Given the description of an element on the screen output the (x, y) to click on. 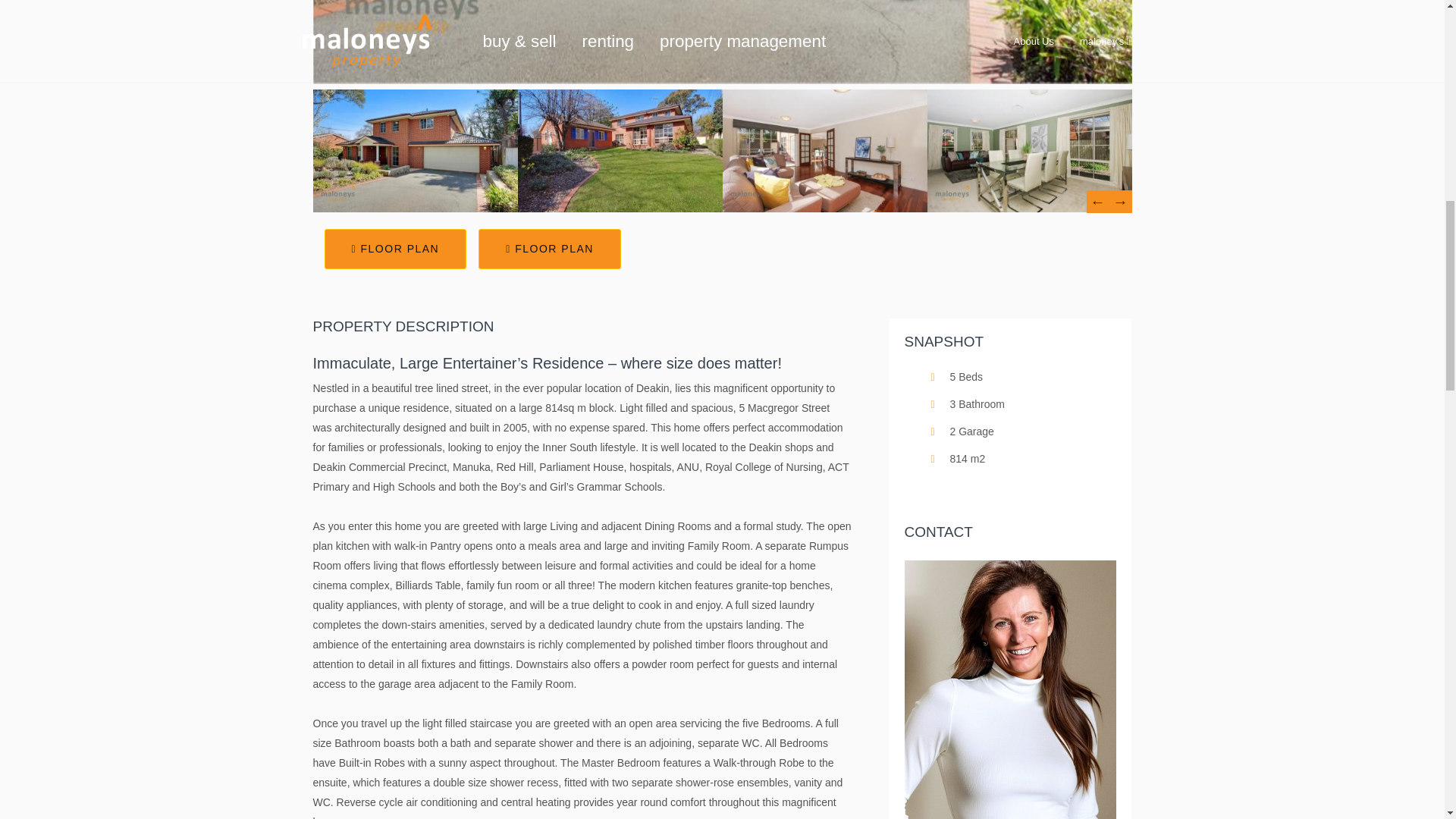
Floor Plan (550, 249)
Floor Plan (395, 249)
